Given the description of an element on the screen output the (x, y) to click on. 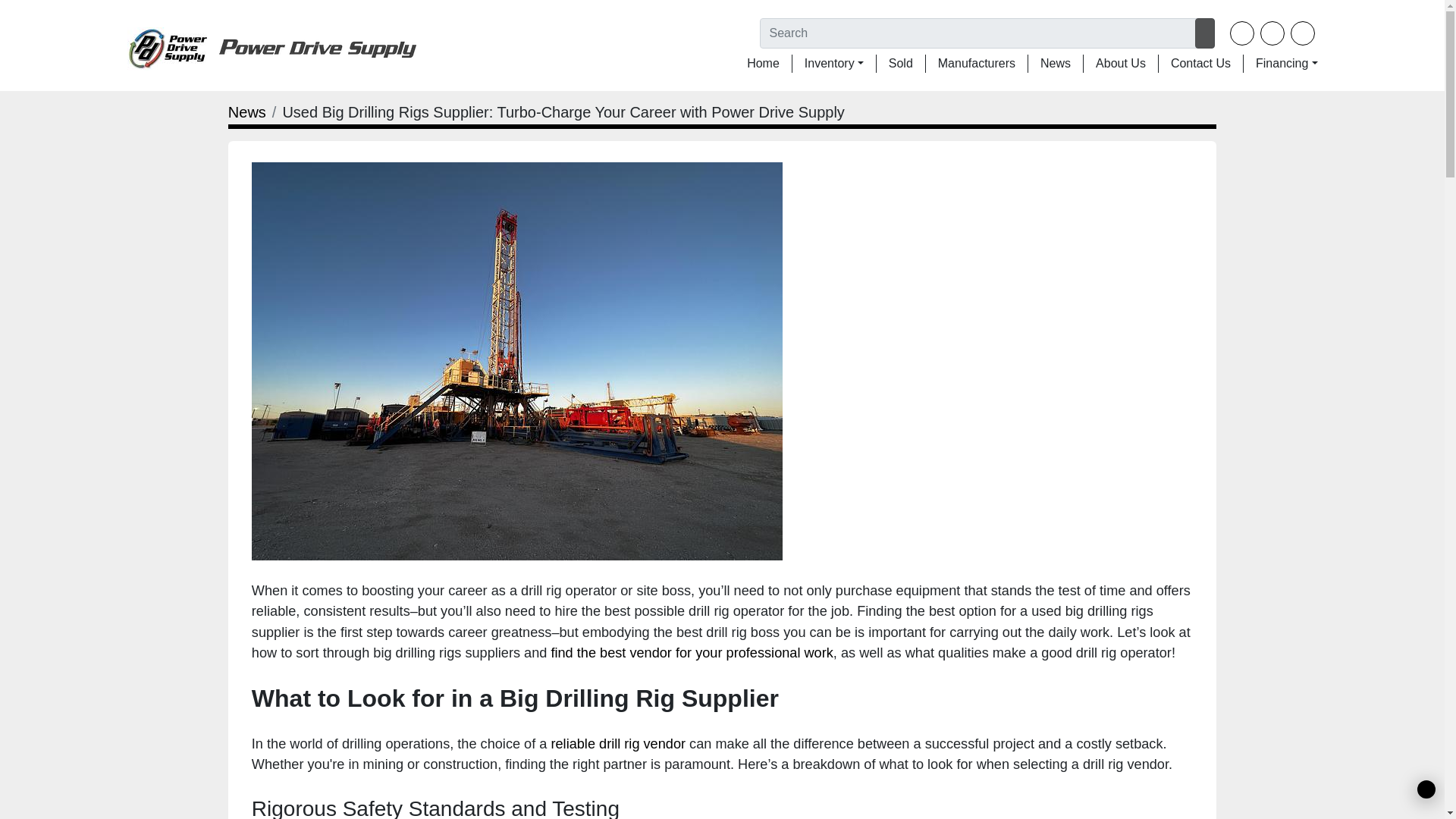
Home (762, 63)
Inventory (829, 63)
